Given the description of an element on the screen output the (x, y) to click on. 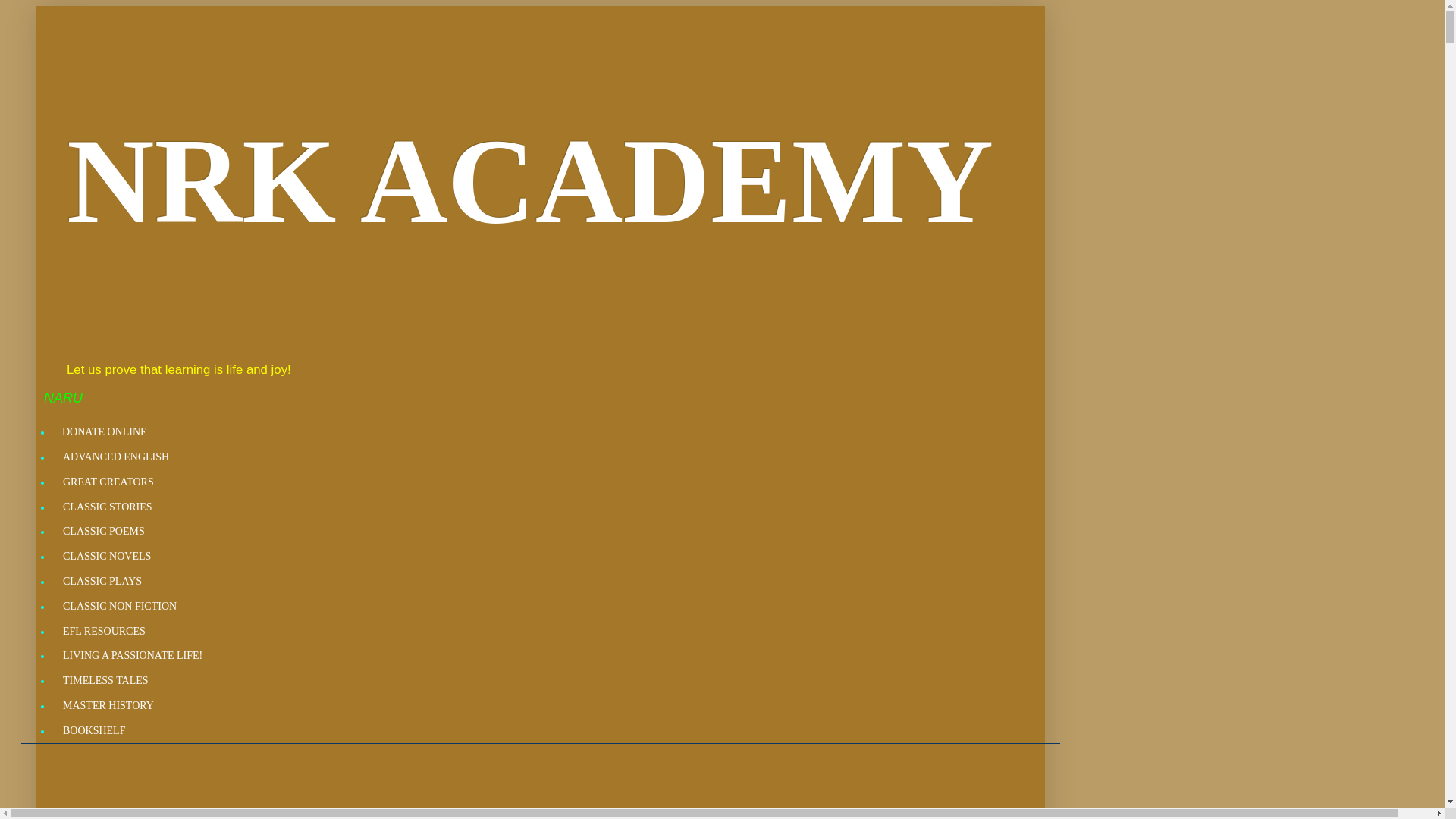
CLASSIC PLAYS (101, 581)
TIMELESS TALES (104, 681)
CLASSIC STORIES (106, 506)
CLASSIC POEMS (102, 531)
ADVANCED ENGLISH (114, 457)
BOOKSHELF (92, 730)
CLASSIC NOVELS (105, 556)
GREAT CREATORS (107, 482)
MASTER HISTORY (107, 706)
Advertisement (498, 785)
EFL RESOURCES (102, 631)
CLASSIC NON FICTION (118, 606)
DONATE ONLINE (103, 432)
LIVING A PASSIONATE LIFE! (131, 656)
